Given the description of an element on the screen output the (x, y) to click on. 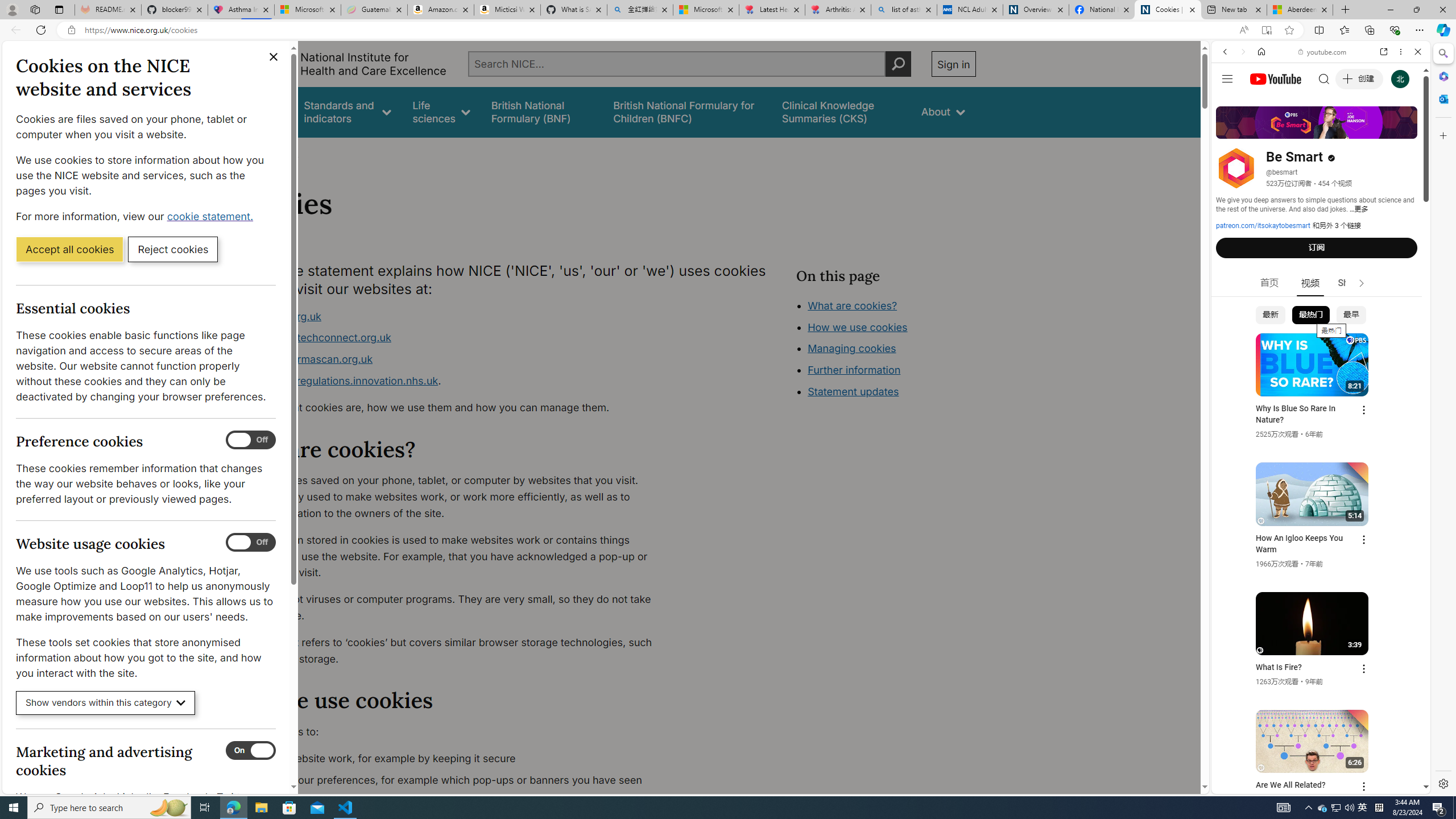
Search Filter, Search Tools (1350, 129)
Perform search (898, 63)
Trailer #2 [HD] (1320, 337)
Guidance (260, 111)
